Given the description of an element on the screen output the (x, y) to click on. 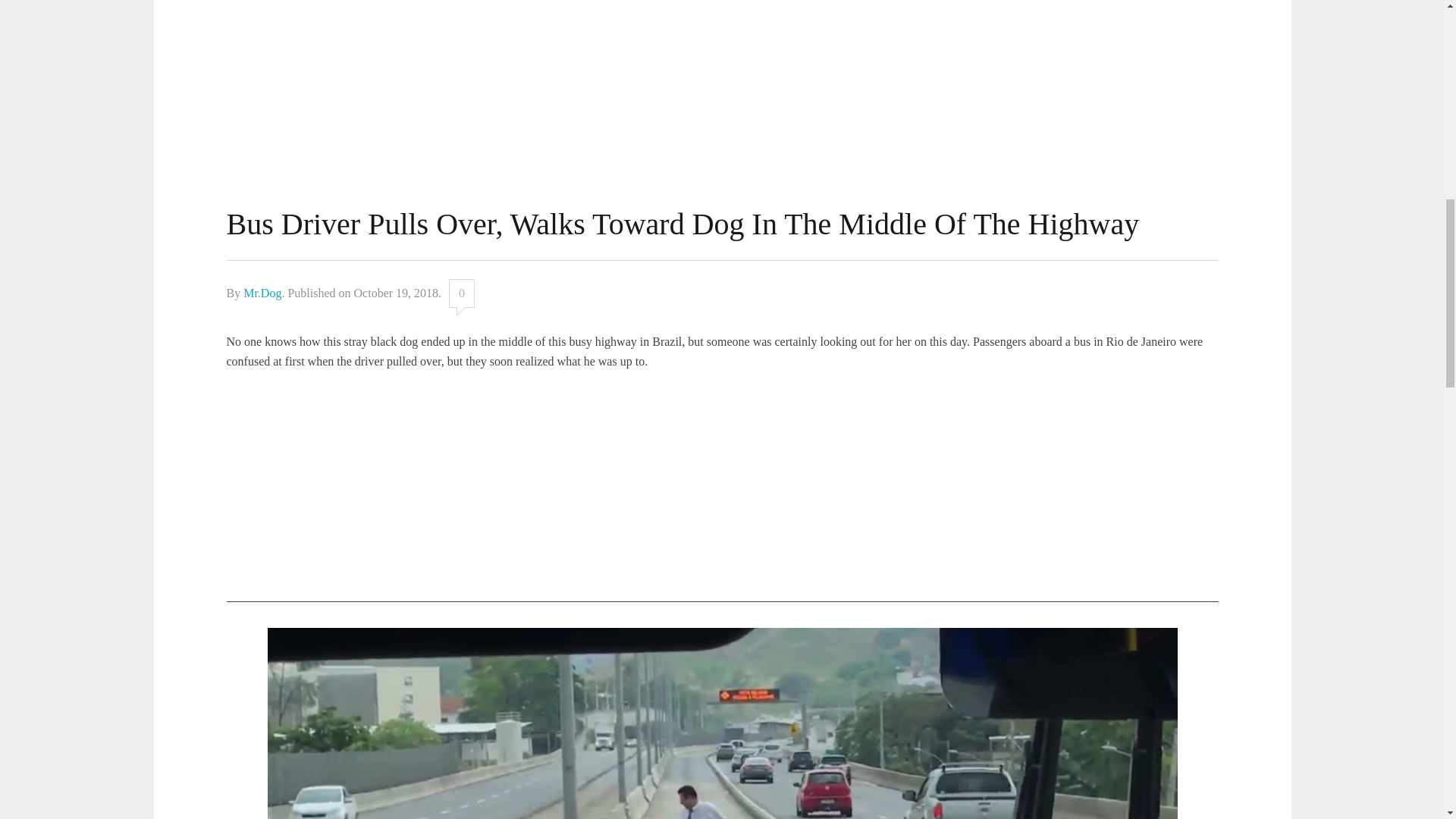
0 (461, 293)
Posts by Mr.Dog (262, 292)
Mr.Dog (262, 292)
